Given the description of an element on the screen output the (x, y) to click on. 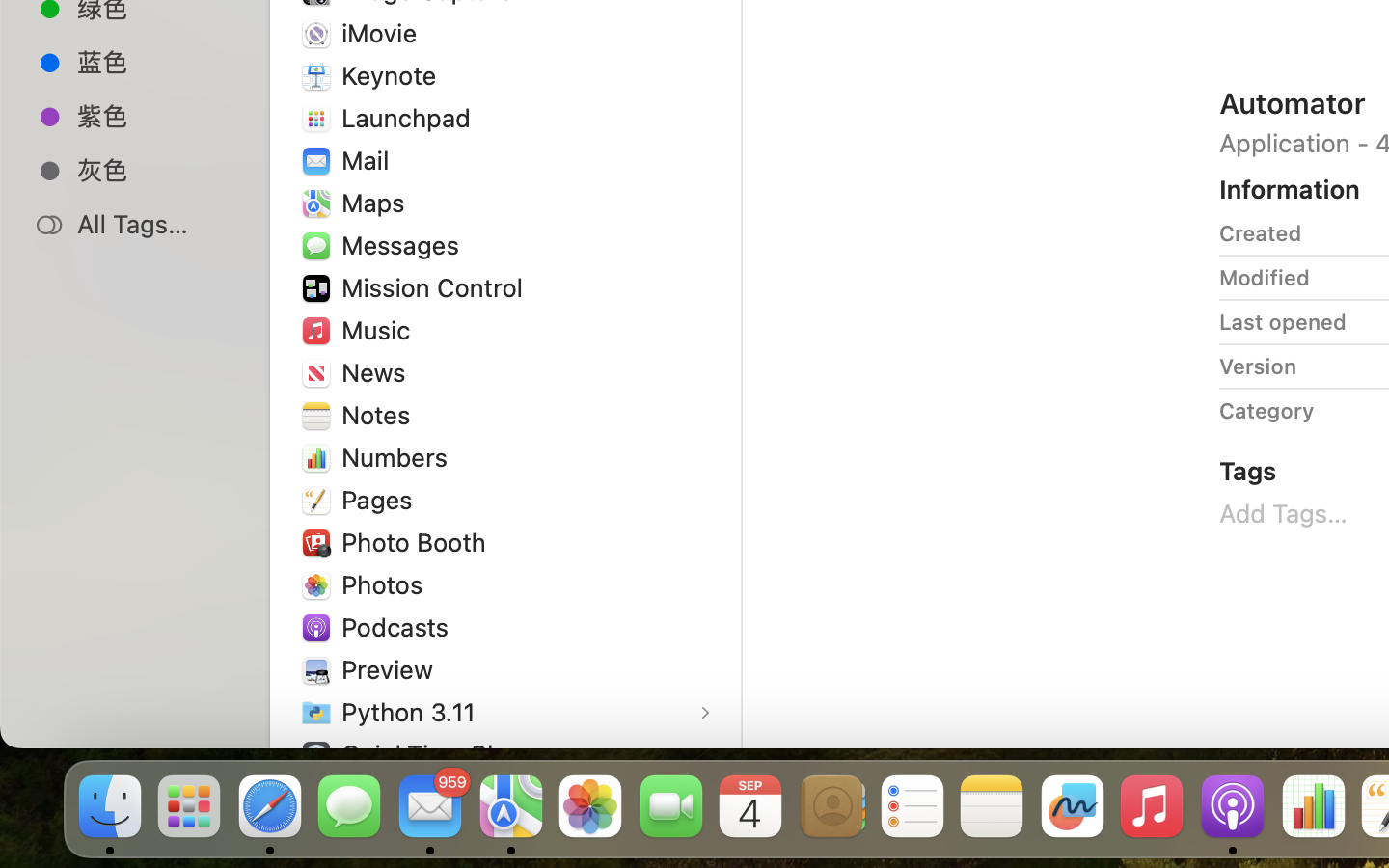
Version Element type: AXStaticText (1257, 365)
Photo Booth Element type: AXTextField (417, 541)
Numbers Element type: AXTextField (399, 456)
Notes Element type: AXTextField (379, 414)
Messages Element type: AXTextField (403, 244)
